Given the description of an element on the screen output the (x, y) to click on. 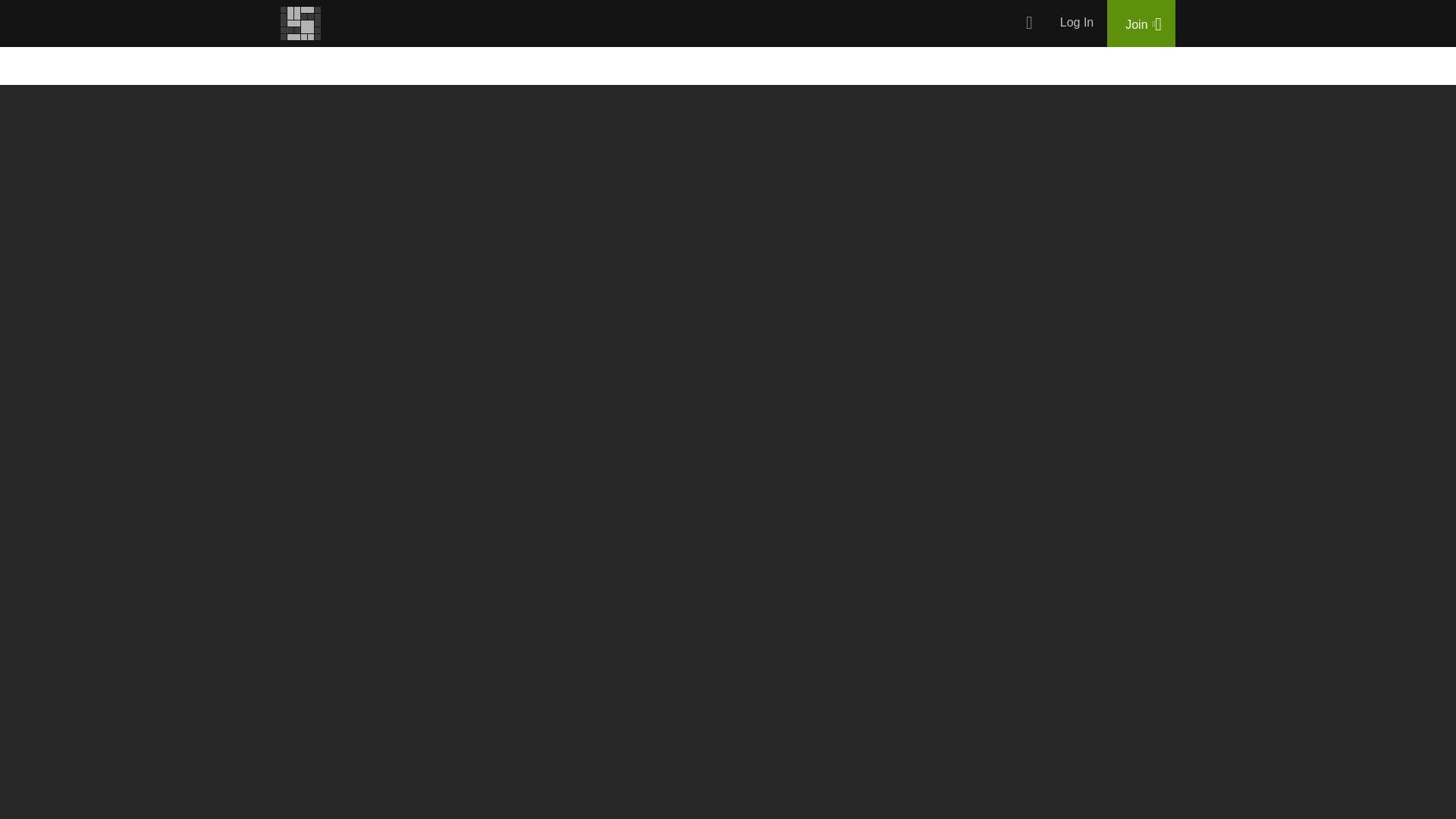
Join (1140, 23)
Log In (1076, 23)
